Given the description of an element on the screen output the (x, y) to click on. 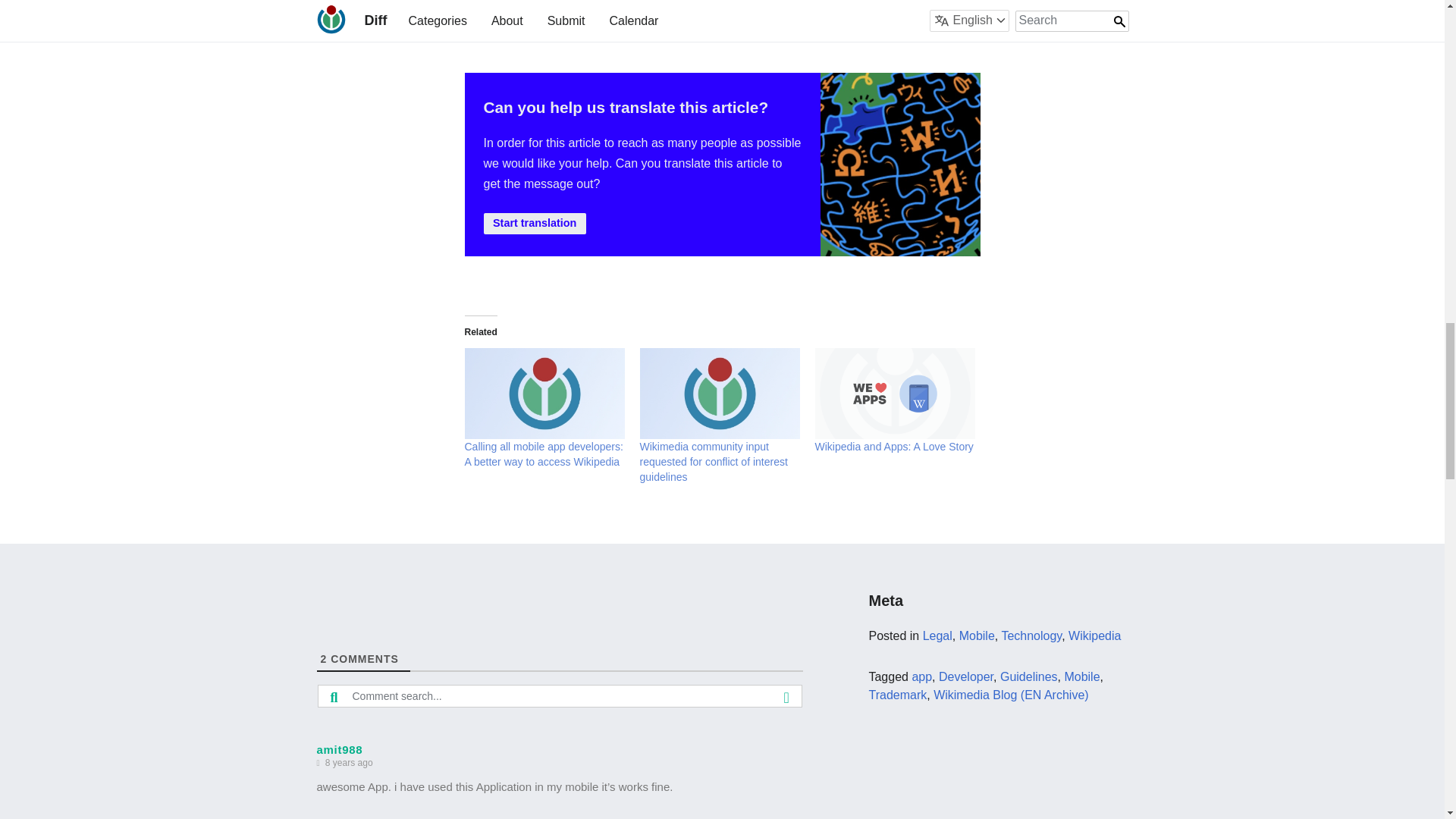
Start translation (534, 223)
Wikipedia and Apps: A Love Story (893, 393)
31 August 2015 22:37 (348, 762)
Wikipedia and Apps: A Love Story (892, 446)
